Given the description of an element on the screen output the (x, y) to click on. 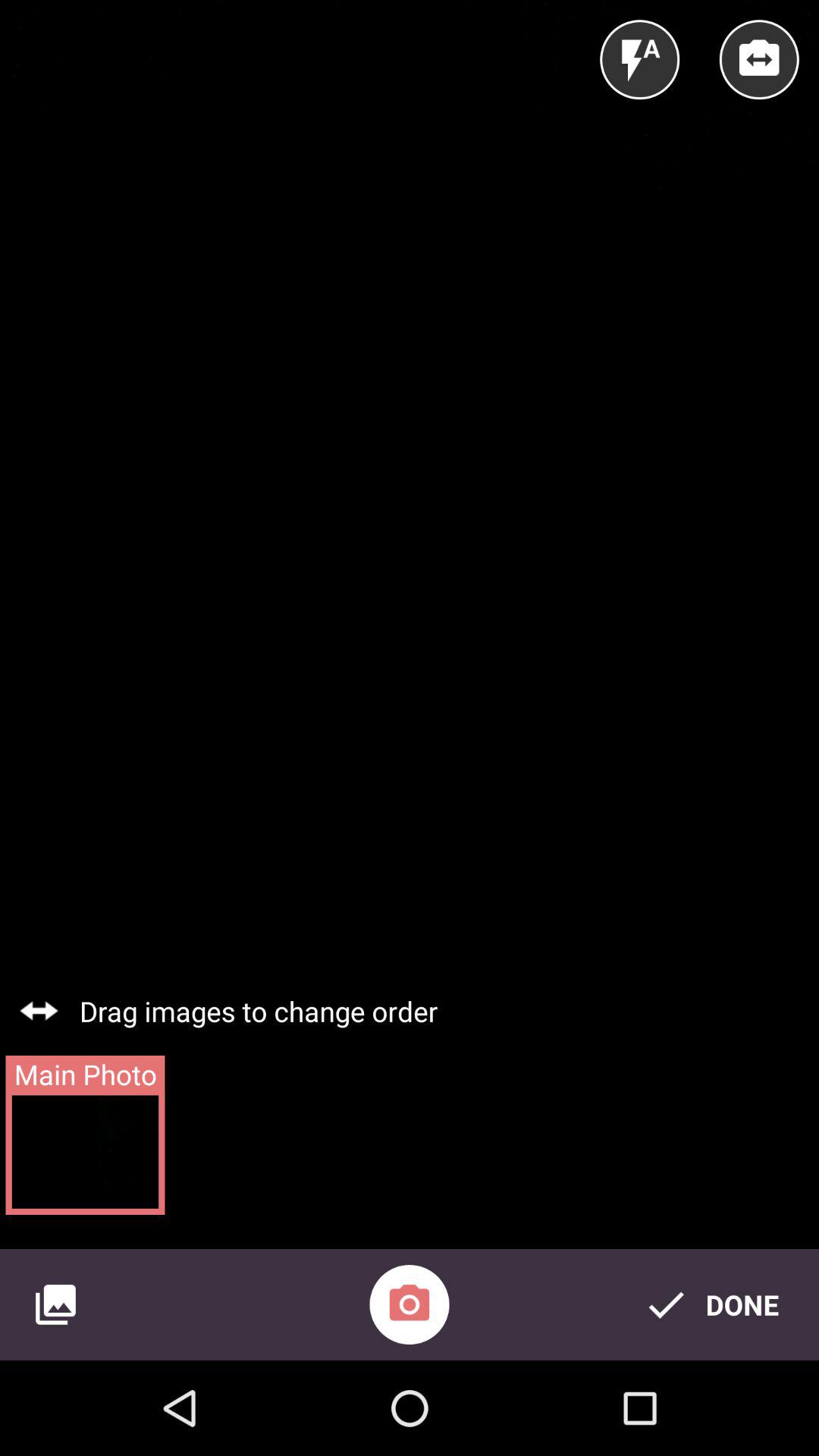
choose item below drag images to icon (409, 1304)
